Given the description of an element on the screen output the (x, y) to click on. 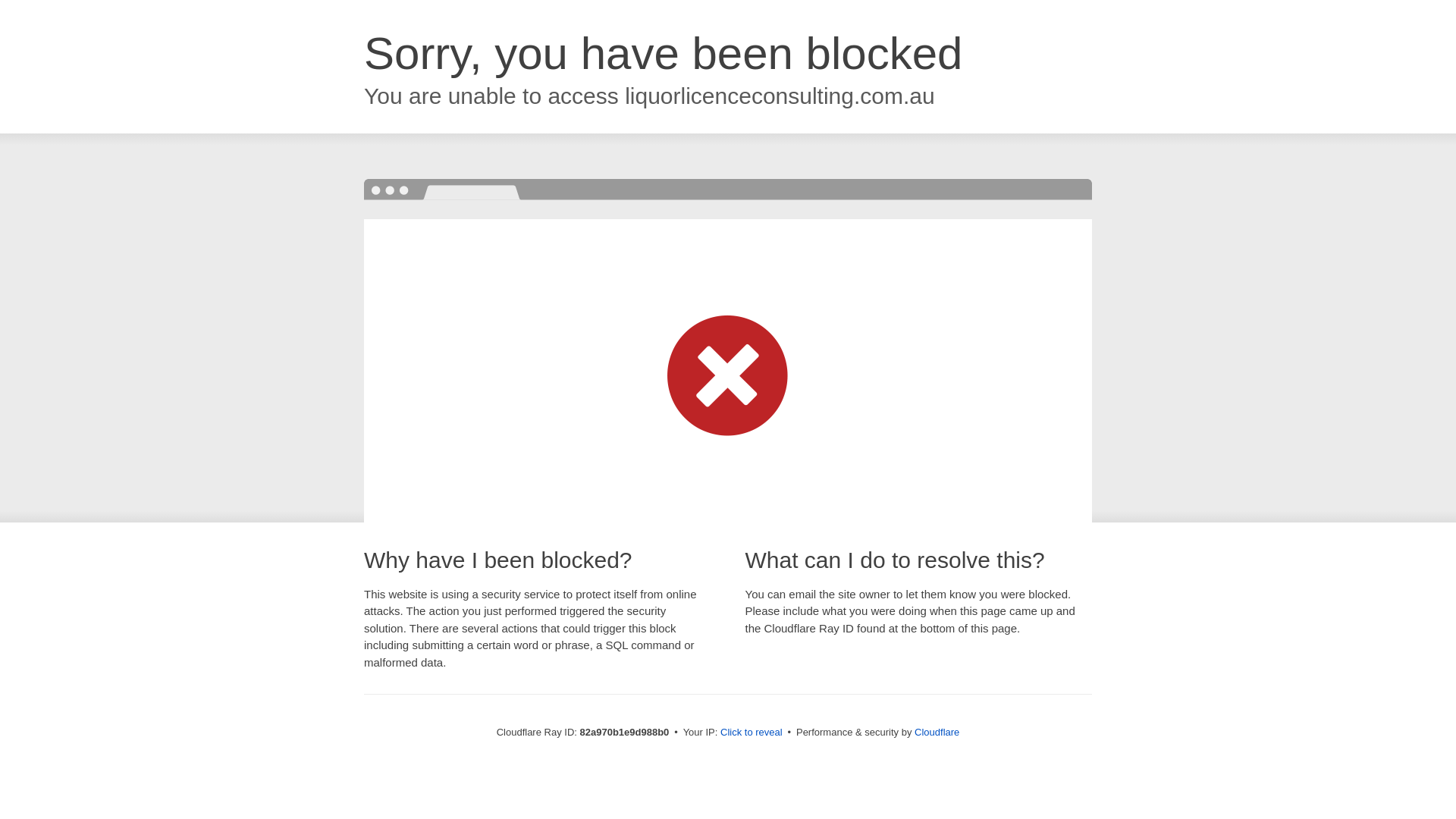
Click to reveal Element type: text (751, 732)
Cloudflare Element type: text (936, 731)
